Given the description of an element on the screen output the (x, y) to click on. 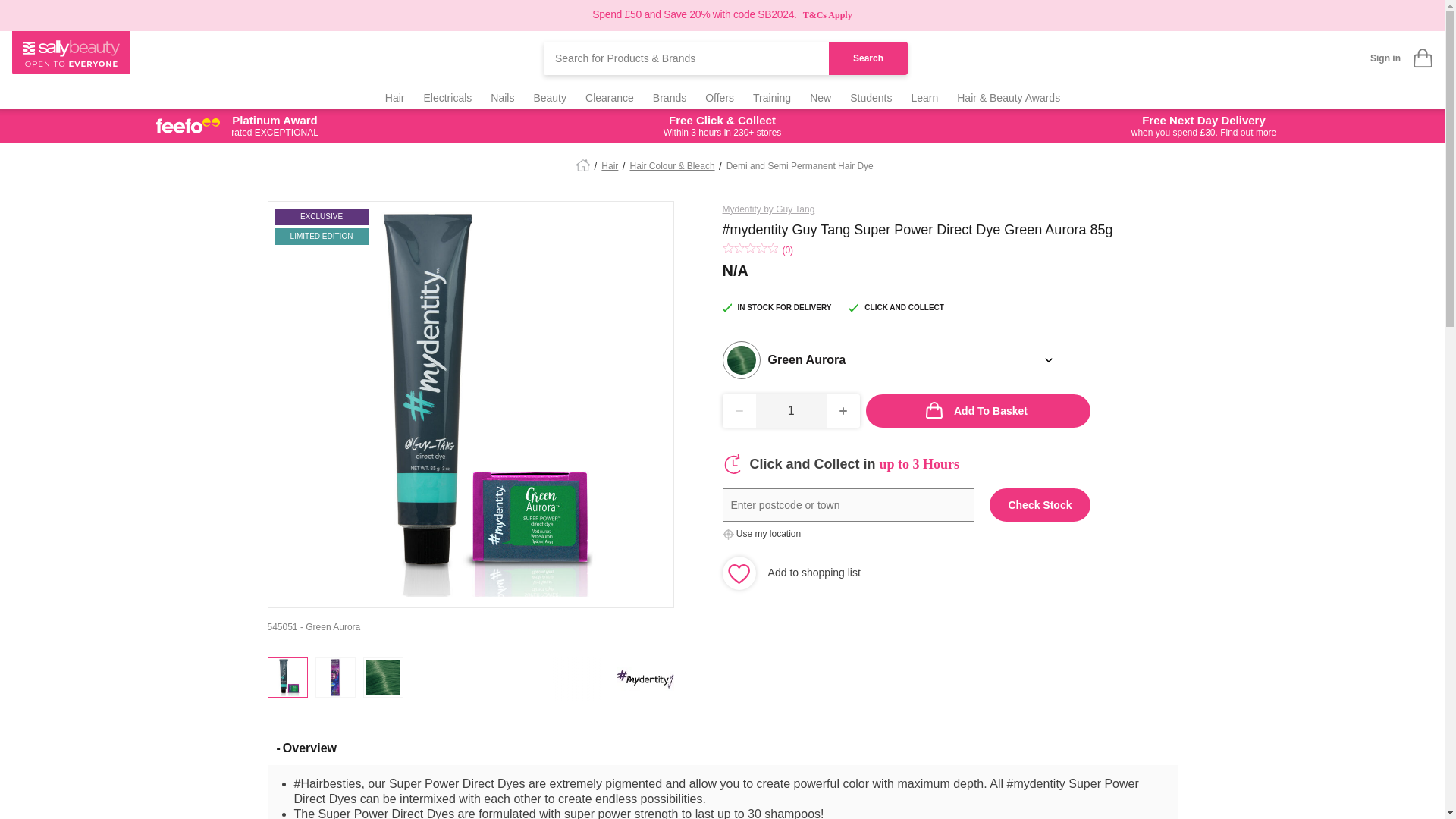
Electricals (447, 97)
1 (791, 410)
Learn (924, 97)
New (820, 97)
Beauty (549, 97)
Students (870, 97)
Offers (718, 97)
Nails (501, 97)
Beauty (549, 97)
Search (867, 58)
